Given the description of an element on the screen output the (x, y) to click on. 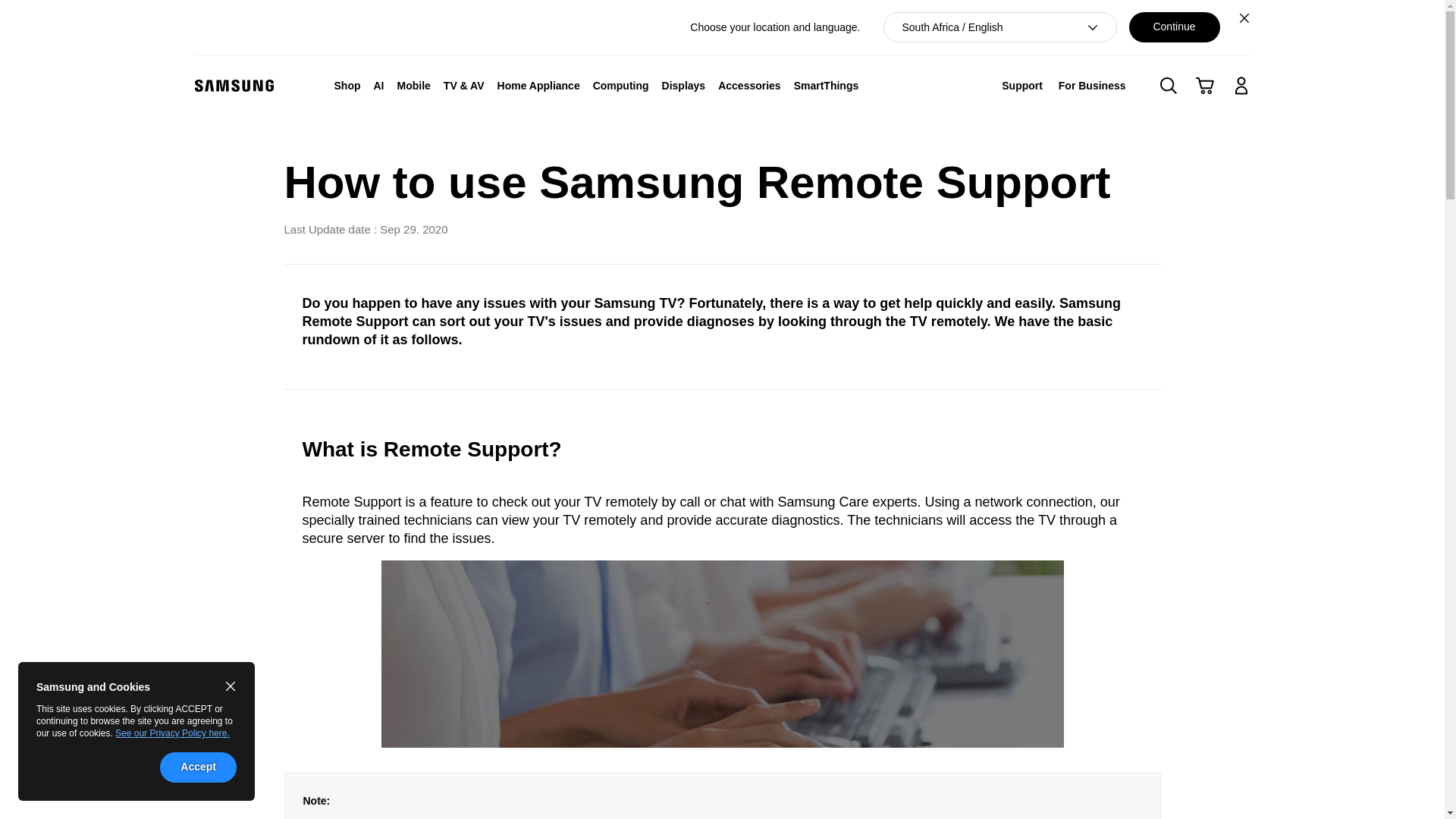
Shop (346, 85)
Continue (1174, 27)
Accept (197, 767)
Close (1243, 17)
See our Privacy Policy here. (172, 733)
close (230, 686)
Accept (197, 767)
